Given the description of an element on the screen output the (x, y) to click on. 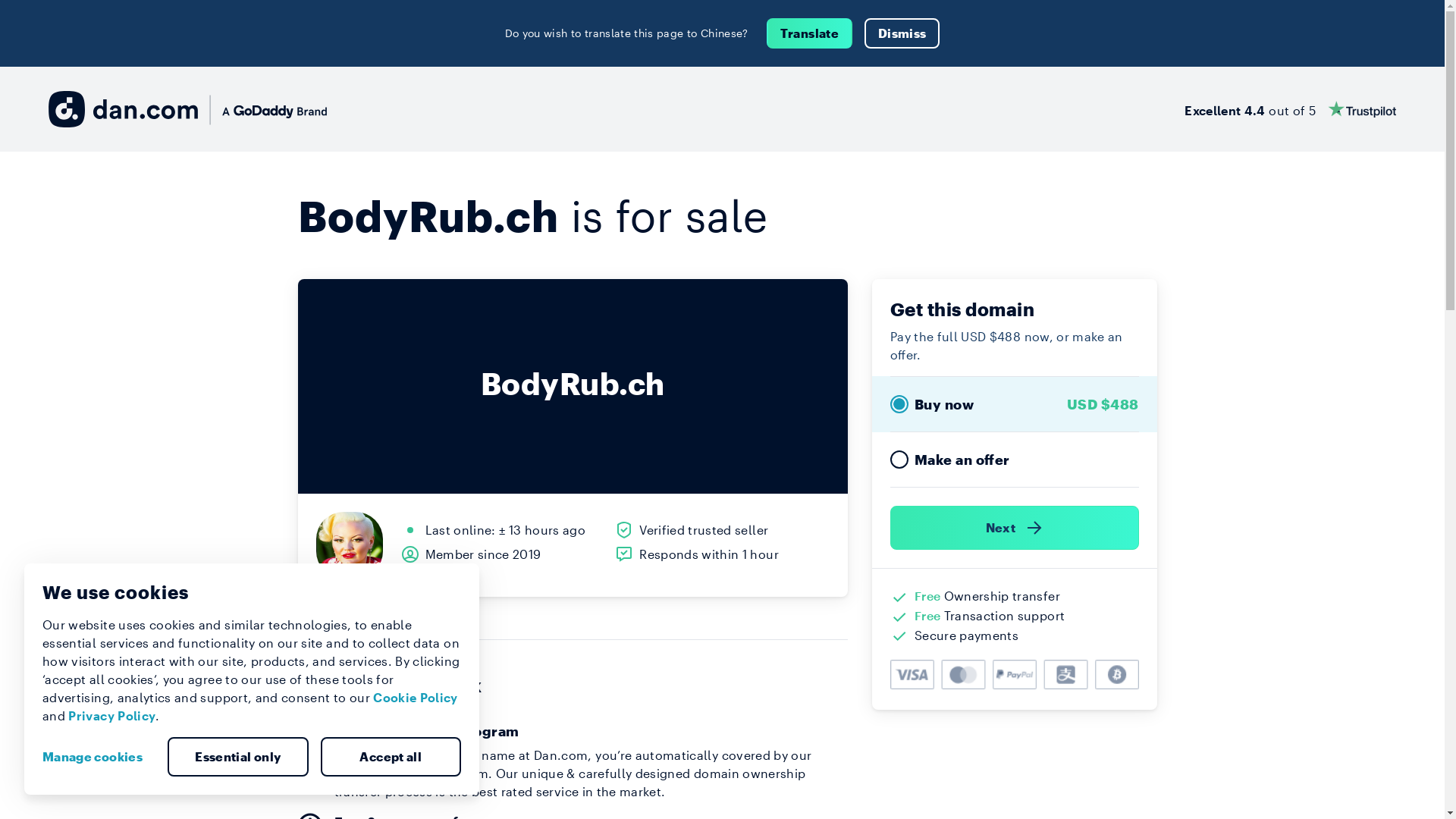
Manage cookies Element type: text (98, 756)
Essential only Element type: text (237, 756)
Cookie Policy Element type: text (415, 697)
Next
) Element type: text (1014, 527)
Excellent 4.4 out of 5 Element type: text (1290, 109)
Privacy Policy Element type: text (111, 715)
Accept all Element type: text (390, 756)
Translate Element type: text (809, 33)
Dismiss Element type: text (901, 33)
